Given the description of an element on the screen output the (x, y) to click on. 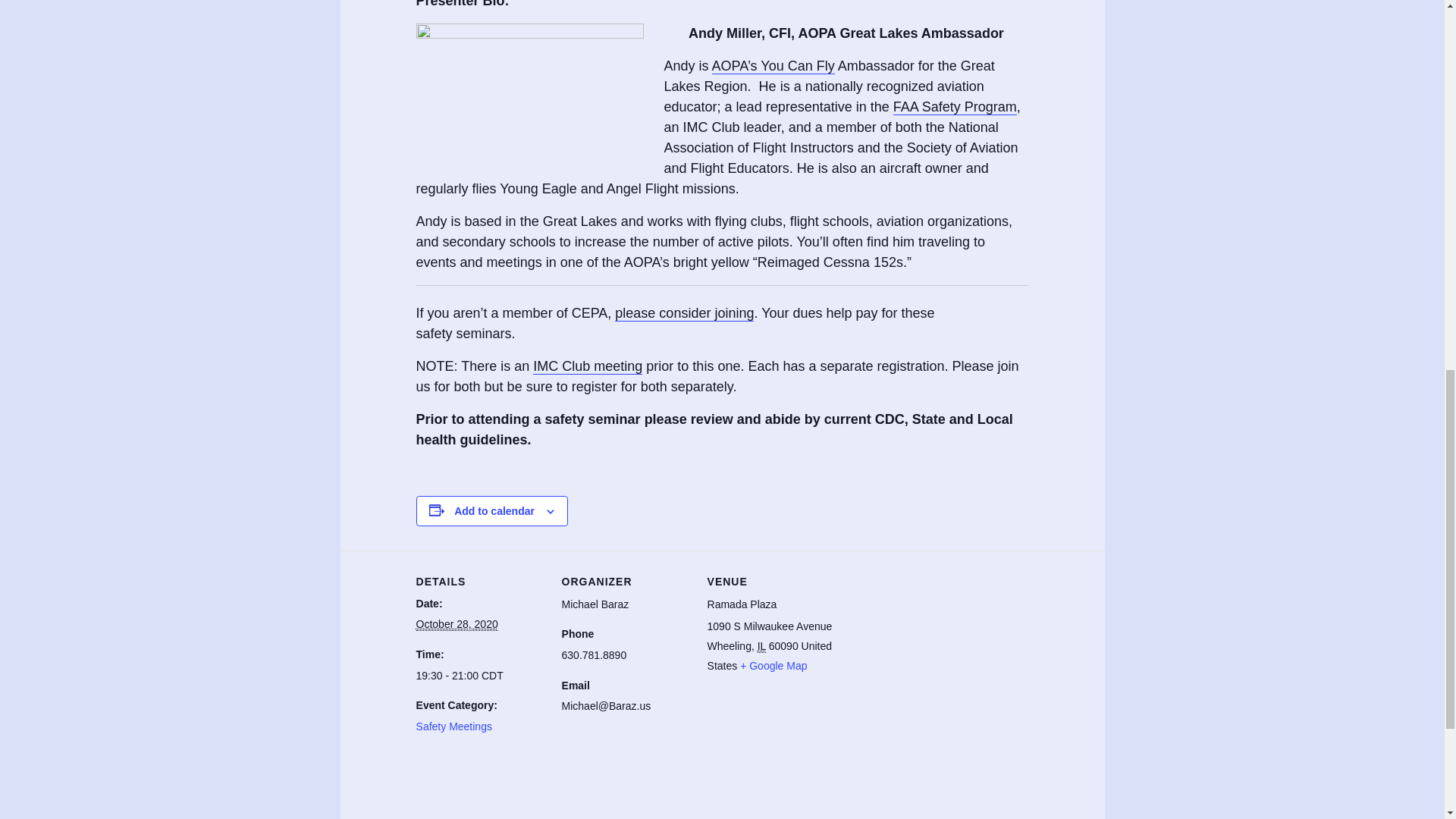
IMC Club meeting (587, 366)
2020-10-28 (479, 675)
2020-10-28 (456, 624)
Google maps iframe displaying the address to Ramada Plaza (933, 654)
please consider joining (684, 313)
Click to view a Google Map (772, 665)
Add to calendar (494, 510)
FAA Safety Program (954, 107)
